Given the description of an element on the screen output the (x, y) to click on. 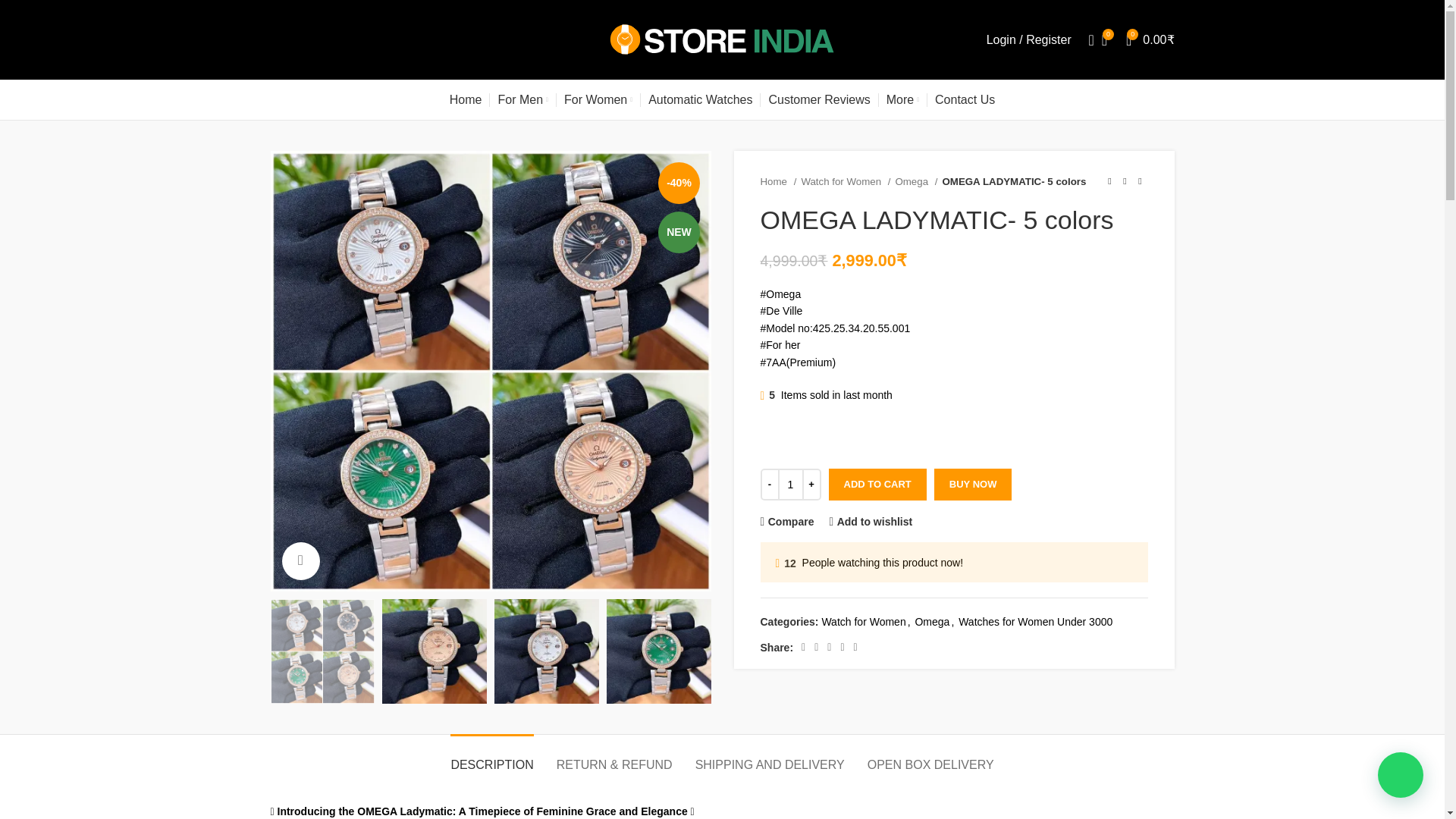
For Women (597, 100)
Automatic Watches (699, 100)
Shopping cart (1149, 39)
Home (465, 100)
My account (1028, 39)
For Men (522, 100)
